Given the description of an element on the screen output the (x, y) to click on. 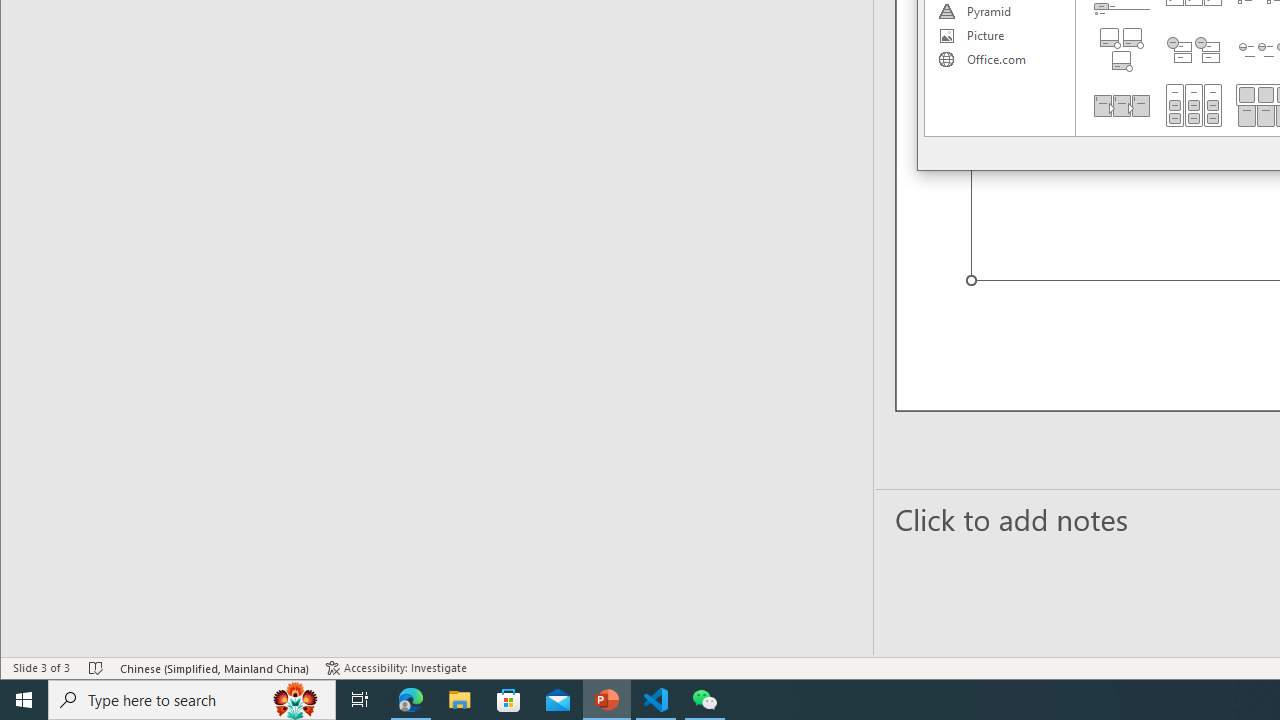
Spell Check No Errors (96, 668)
Microsoft Store (509, 699)
Accessibility Checker Accessibility: Investigate (395, 668)
Grouped List (1194, 105)
Office.com (999, 60)
PowerPoint - 1 running window (607, 699)
File Explorer (460, 699)
Task View (359, 699)
Detailed Process (1121, 105)
Visual Studio Code - 1 running window (656, 699)
Microsoft Edge - 1 running window (411, 699)
WeChat - 1 running window (704, 699)
Start (24, 699)
Bending Picture Accent List (1121, 49)
